Given the description of an element on the screen output the (x, y) to click on. 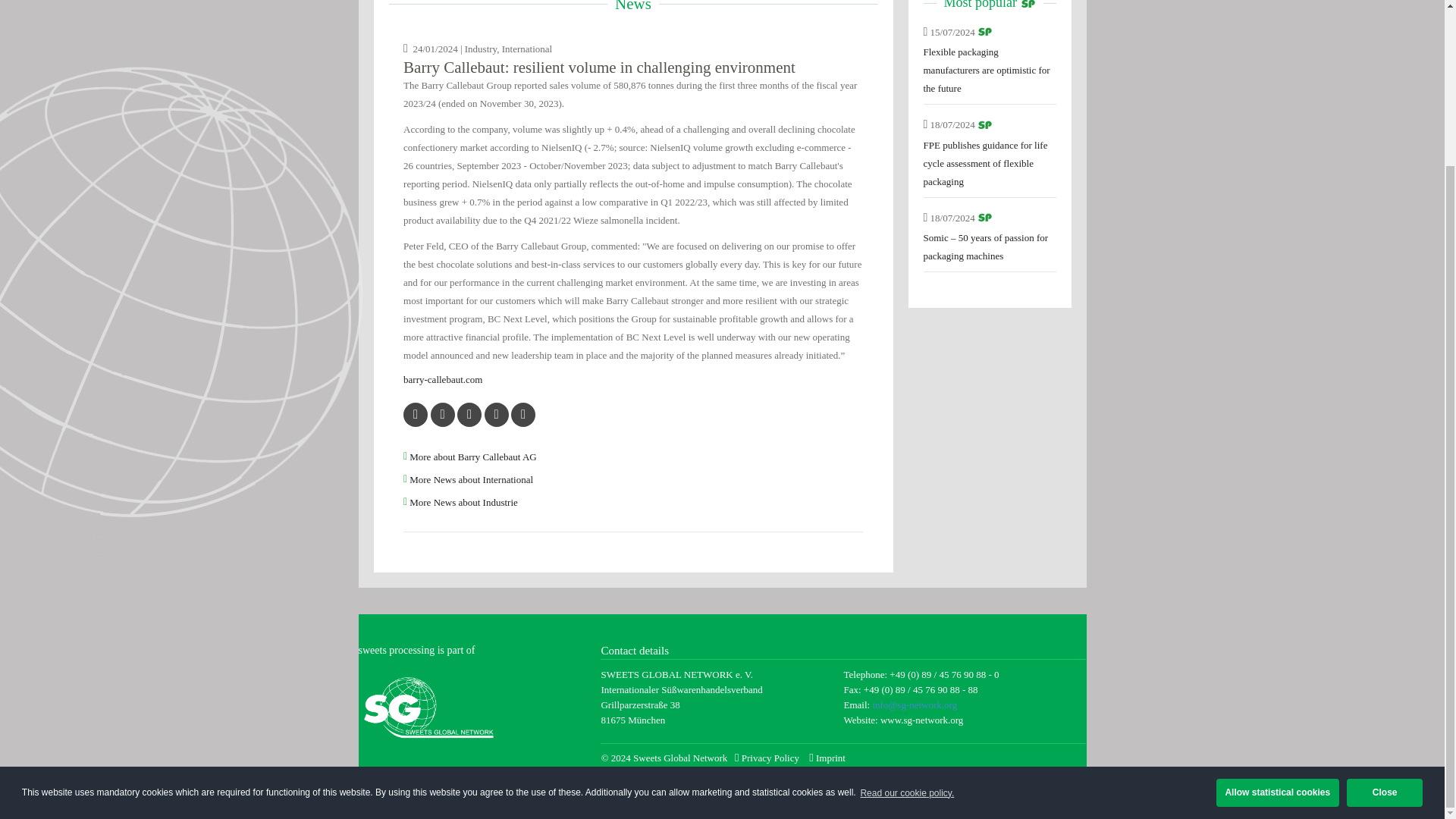
Facebook (442, 414)
Read our cookie policy. (907, 595)
LinkedIn (496, 414)
SP (1027, 5)
SP (984, 31)
SP (984, 124)
Xing (523, 414)
Close (1384, 595)
SP (984, 217)
Twitter (415, 414)
Allow statistical cookies (1277, 595)
